Given the description of an element on the screen output the (x, y) to click on. 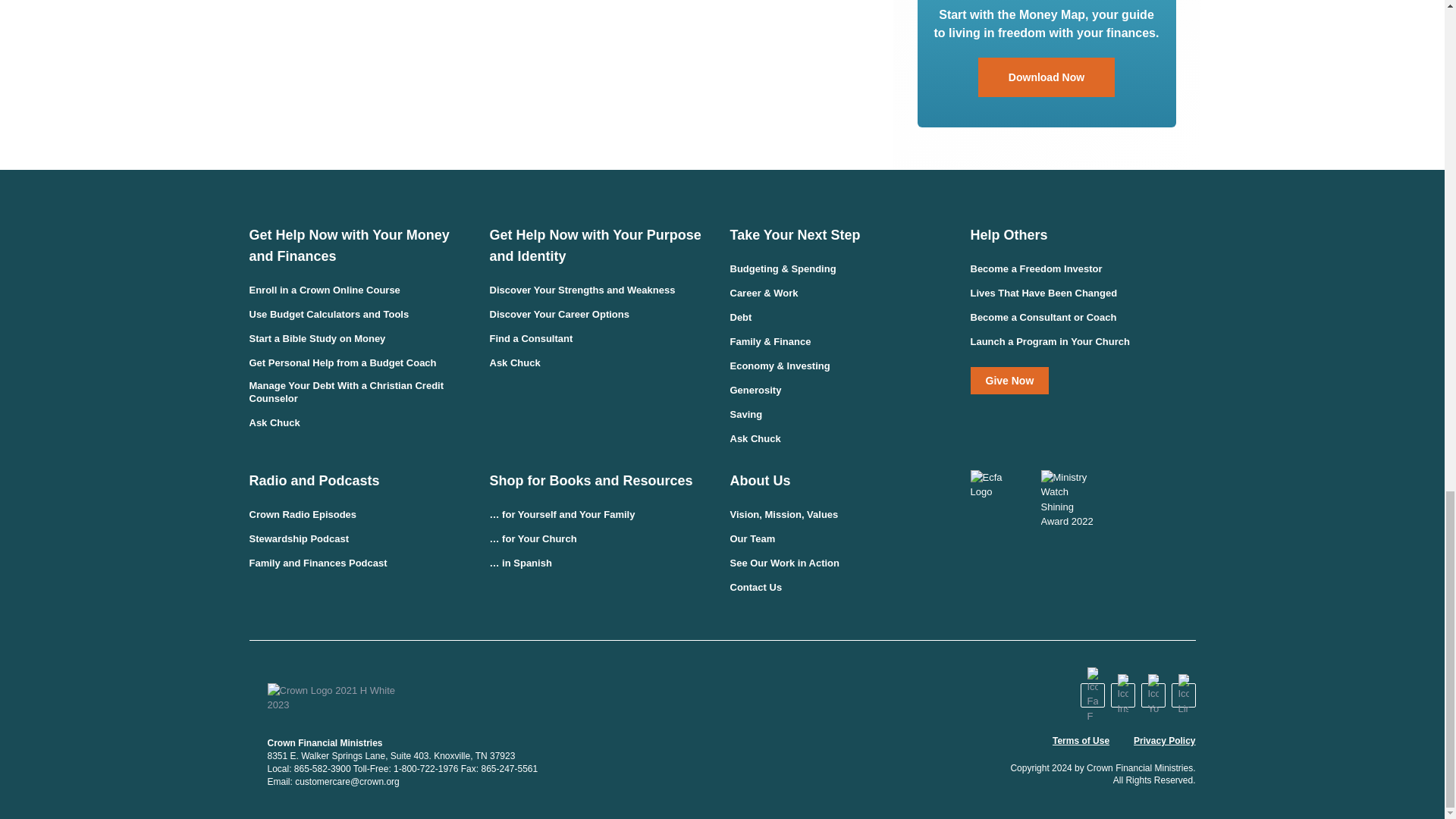
Crown Logo 2021 H White 2023 (340, 697)
Ecfa Logo (998, 484)
Ministry Watch Shining Award 2022 (1068, 499)
